Given the description of an element on the screen output the (x, y) to click on. 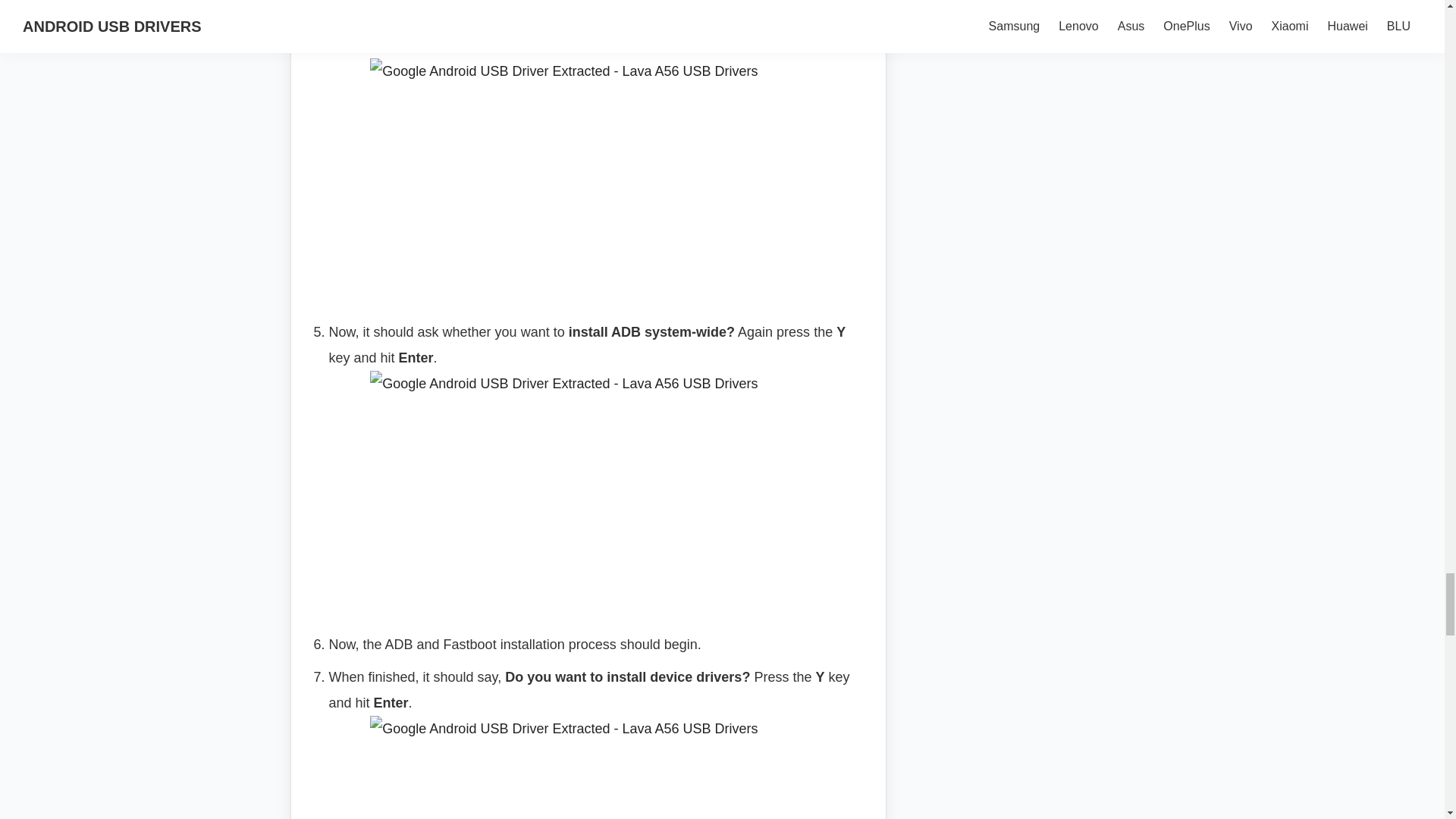
Google Android USB Driver Extracted - Lava A56 USB Drivers (597, 177)
Google Android USB Driver Extracted - Lava A56 USB Drivers (597, 490)
Google Android USB Driver Extracted - Lava A56 USB Drivers (597, 767)
